Given the description of an element on the screen output the (x, y) to click on. 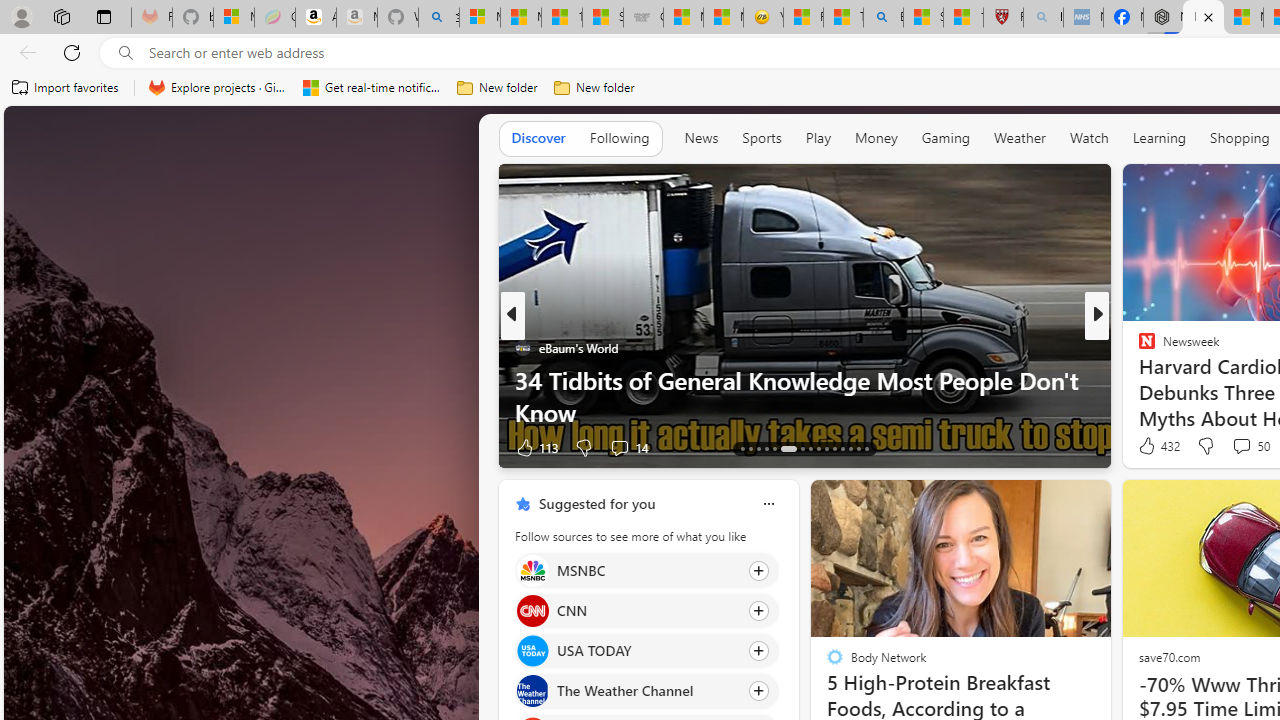
Bing (883, 17)
Import favorites (65, 88)
save70.com (1168, 656)
Play (818, 138)
AutomationID: tab-72 (801, 448)
34 Tidbits of General Knowledge Most People Don't Know (804, 395)
AutomationID: tab-69 (765, 448)
